Given the description of an element on the screen output the (x, y) to click on. 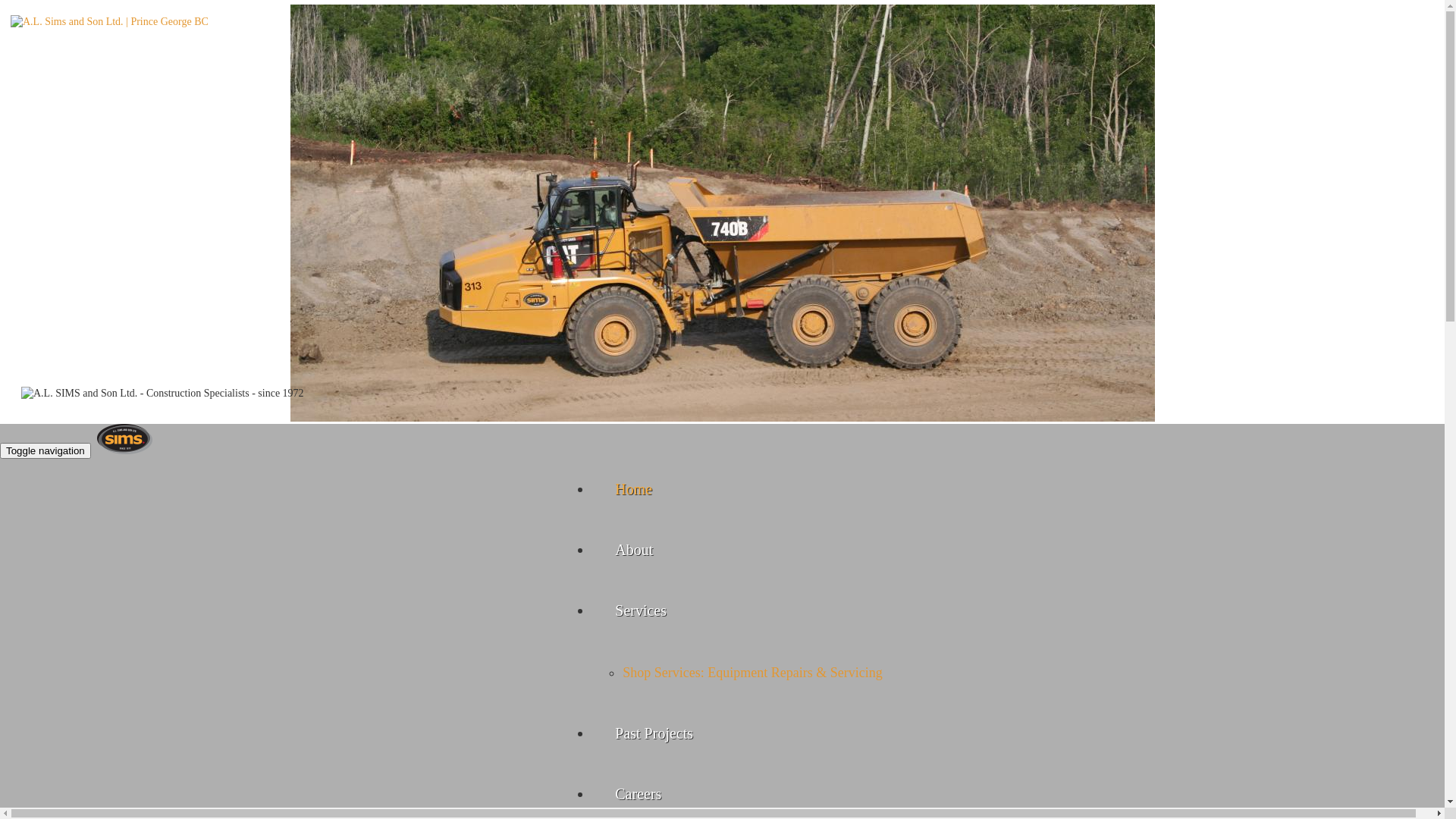
Careers Element type: text (638, 793)
Services Element type: text (640, 610)
Shop Services: Equipment Repairs & Servicing Element type: text (751, 672)
About Element type: text (633, 549)
Past Projects Element type: text (653, 732)
Home Element type: text (633, 488)
Toggle navigation Element type: text (45, 450)
